Given the description of an element on the screen output the (x, y) to click on. 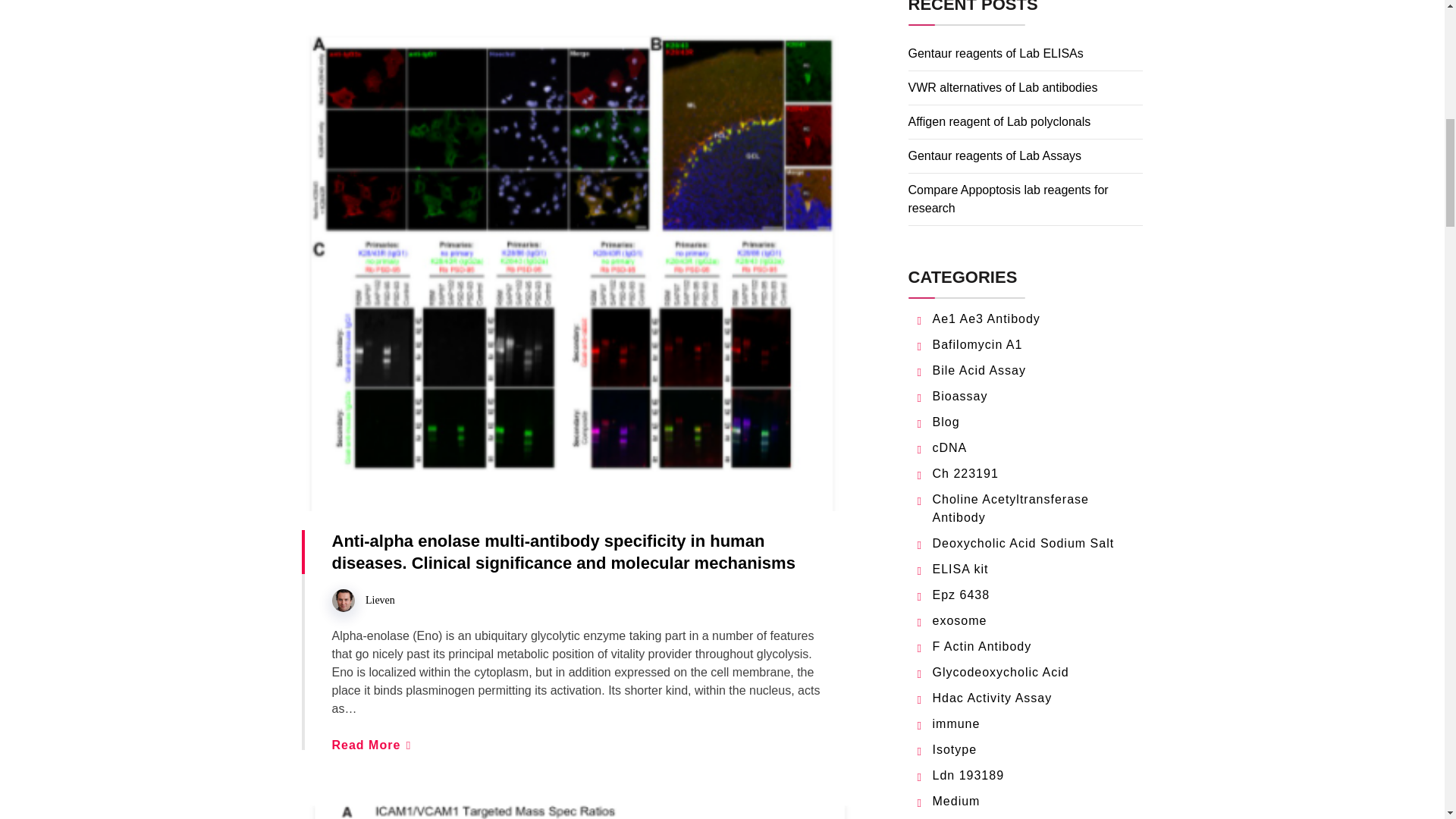
Read More (370, 744)
Lieven (379, 600)
